Given the description of an element on the screen output the (x, y) to click on. 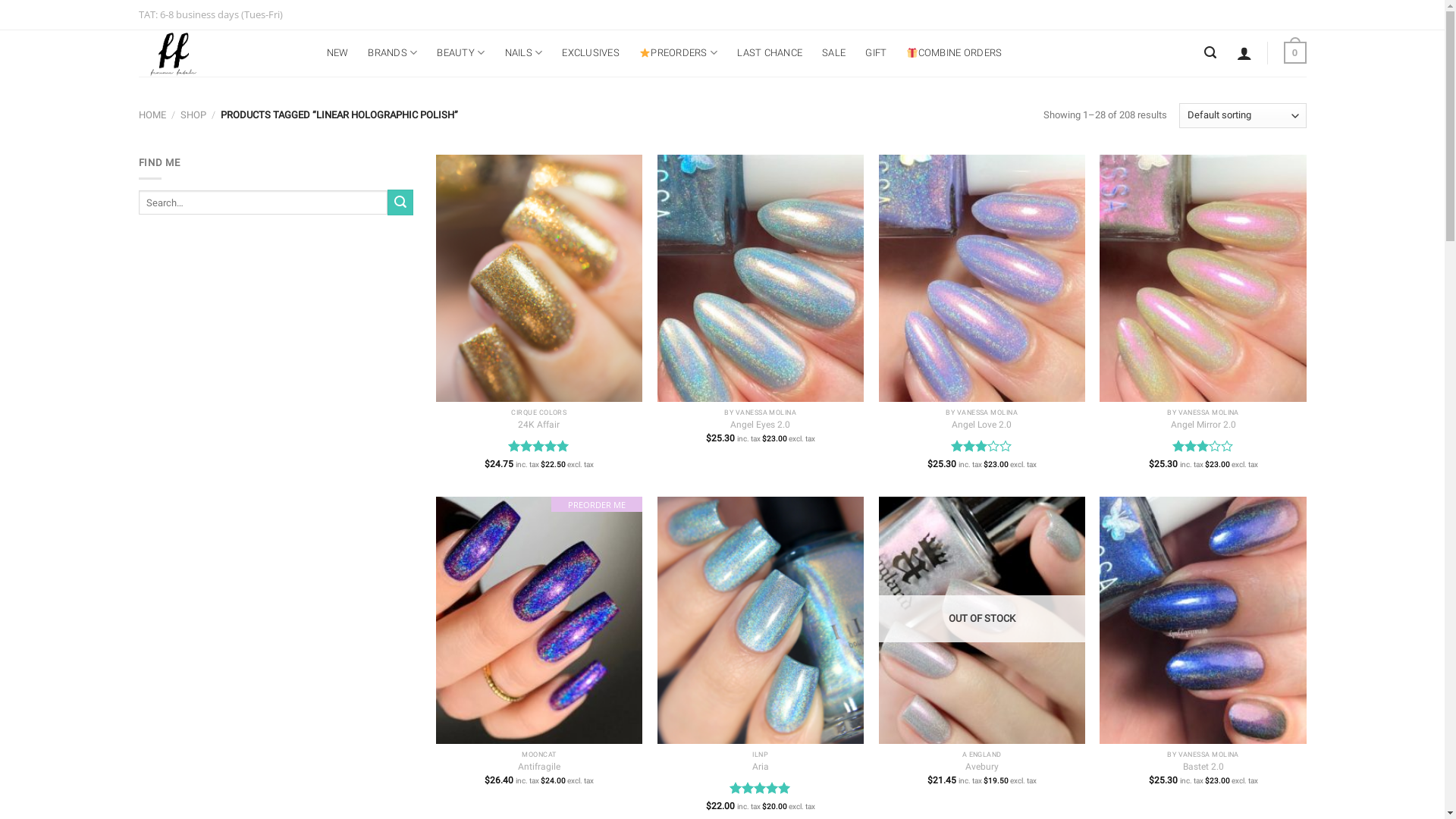
GIFT Element type: text (875, 52)
PREORDERS Element type: text (678, 52)
Angel Mirror 2.0 Element type: text (1203, 425)
EXCLUSIVES Element type: text (590, 52)
Search Element type: text (400, 201)
PREORDER ME Element type: text (539, 619)
Antifragile Element type: text (538, 767)
SALE Element type: text (833, 52)
24K Affair Element type: text (538, 425)
BRANDS Element type: text (392, 52)
0 Element type: text (1294, 53)
LAST CHANCE Element type: text (769, 52)
SHOP Element type: text (193, 114)
NEW Element type: text (337, 52)
Bastet 2.0 Element type: text (1203, 767)
Aria Element type: text (760, 767)
BEAUTY Element type: text (460, 52)
Avebury Element type: text (981, 767)
COMBINE ORDERS Element type: text (953, 52)
Angel Eyes 2.0 Element type: text (760, 425)
NAILS Element type: text (523, 52)
Angel Love 2.0 Element type: text (981, 425)
HOME Element type: text (151, 114)
